Given the description of an element on the screen output the (x, y) to click on. 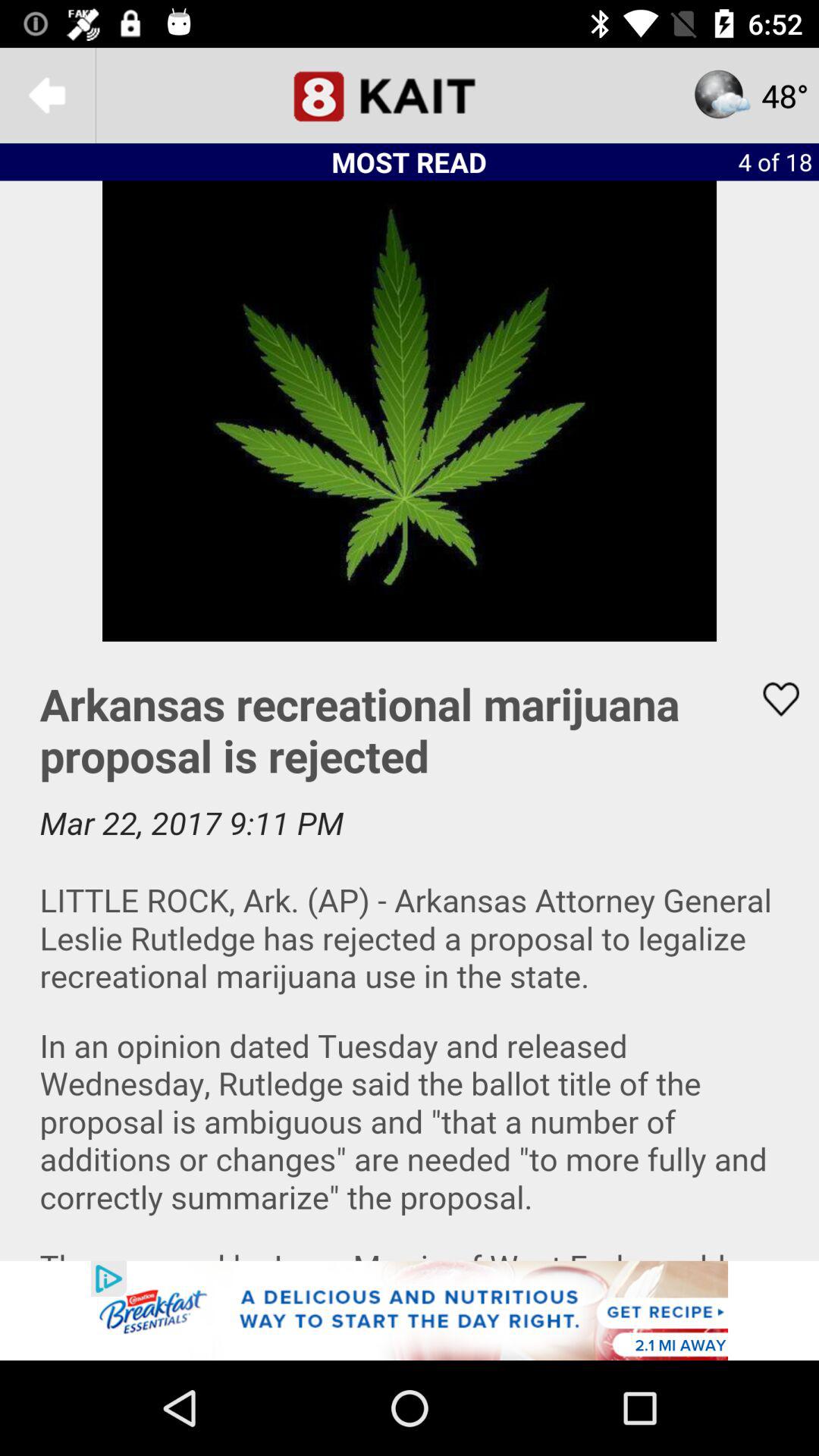
to mark favorite (771, 699)
